Given the description of an element on the screen output the (x, y) to click on. 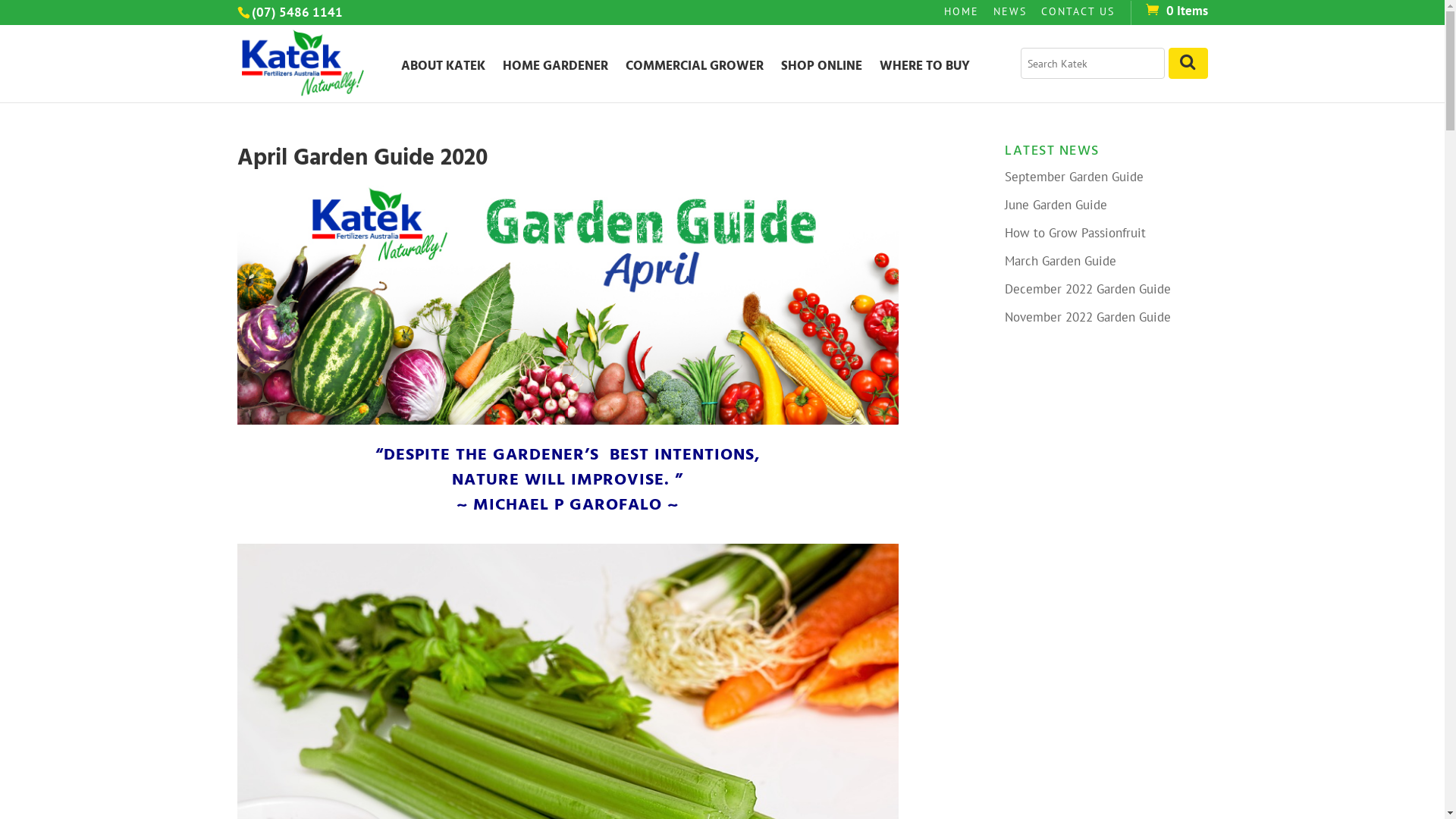
November 2022 Garden Guide Element type: text (1087, 316)
HOME Element type: text (960, 15)
March Garden Guide Element type: text (1060, 260)
CONTACT US Element type: text (1076, 15)
COMMERCIAL GROWER Element type: text (694, 80)
0 Items Element type: text (1174, 10)
NEWS Element type: text (1009, 15)
June Garden Guide Element type: text (1055, 204)
SHOP ONLINE Element type: text (821, 80)
December 2022 Garden Guide Element type: text (1087, 288)
September Garden Guide Element type: text (1073, 176)
(07) 5486 1141 Element type: text (296, 11)
HOME GARDENER Element type: text (555, 80)
ABOUT KATEK Element type: text (443, 80)
Search for: Element type: hover (1092, 62)
How to Grow Passionfruit Element type: text (1074, 232)
WHERE TO BUY Element type: text (924, 80)
